Given the description of an element on the screen output the (x, y) to click on. 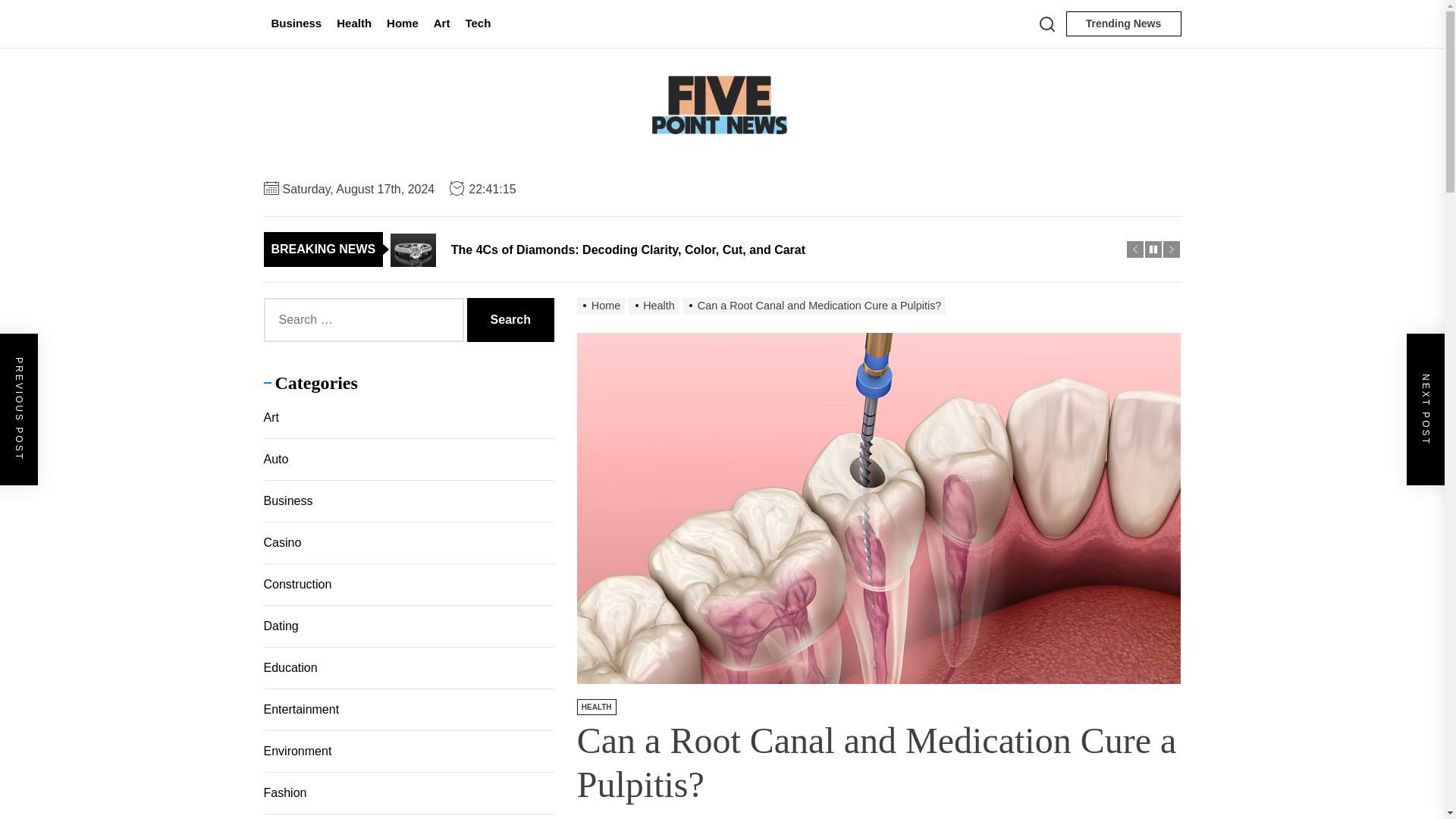
Home (402, 23)
Business (296, 23)
Health (353, 23)
Search (510, 320)
Why Regular Tree Maintenance Matters For Long-Term Health (758, 214)
Trending News (1122, 23)
Search (510, 320)
The 4Cs of Diamonds: Decoding Clarity, Color, Cut, and Carat (758, 248)
